Given the description of an element on the screen output the (x, y) to click on. 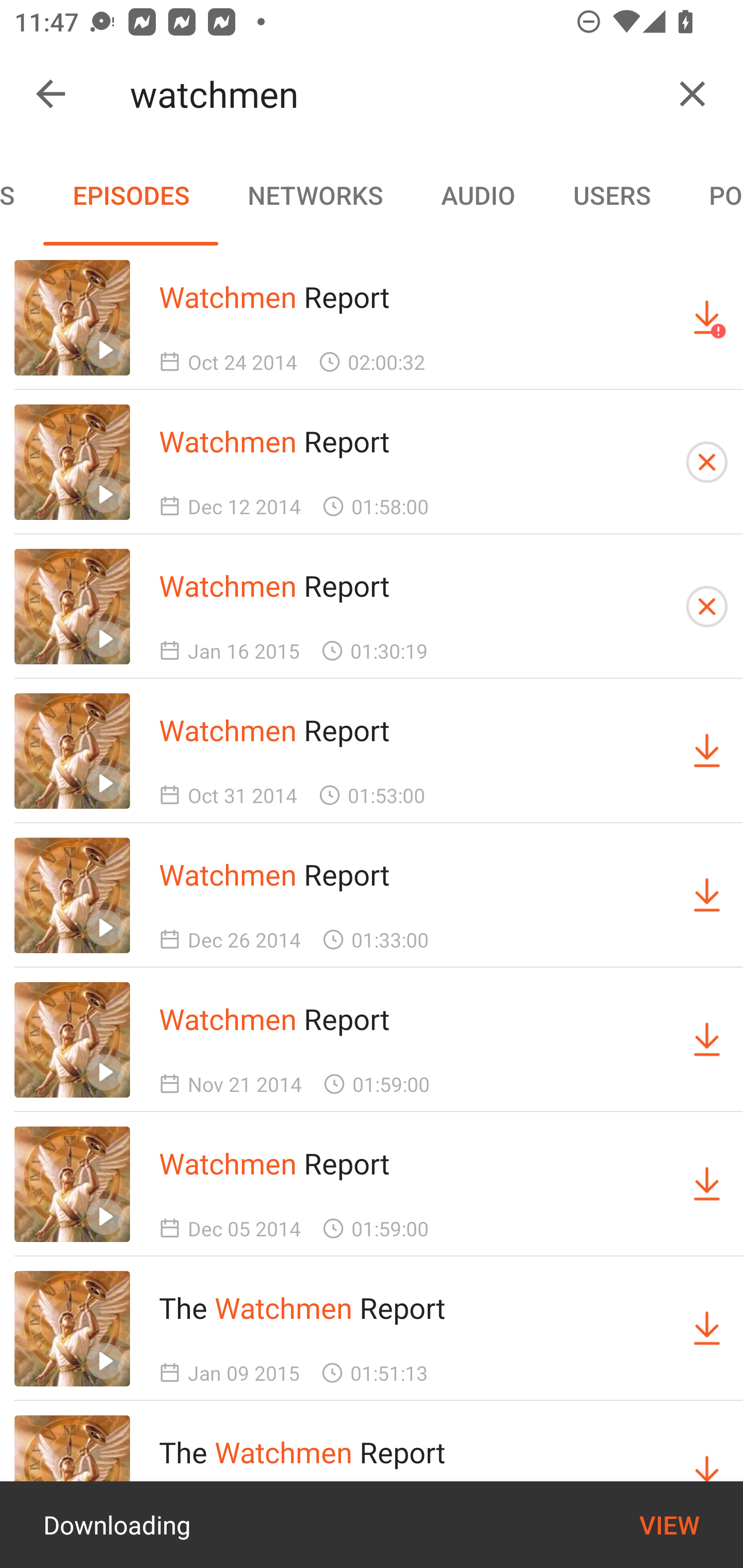
Collapse (50, 93)
Clear query (692, 93)
watchmen (393, 94)
AUDIOBOOKS (21, 195)
EPISODES (130, 195)
NETWORKS (314, 195)
AUDIO (477, 195)
USERS (611, 195)
POST (711, 195)
Download failed (706, 317)
Cancel Downloading (706, 462)
Cancel Downloading (706, 606)
Download (706, 751)
Download (706, 895)
Download (706, 1039)
Download (706, 1183)
Download (706, 1328)
Downloading VIEW (371, 1524)
VIEW (669, 1524)
